Given the description of an element on the screen output the (x, y) to click on. 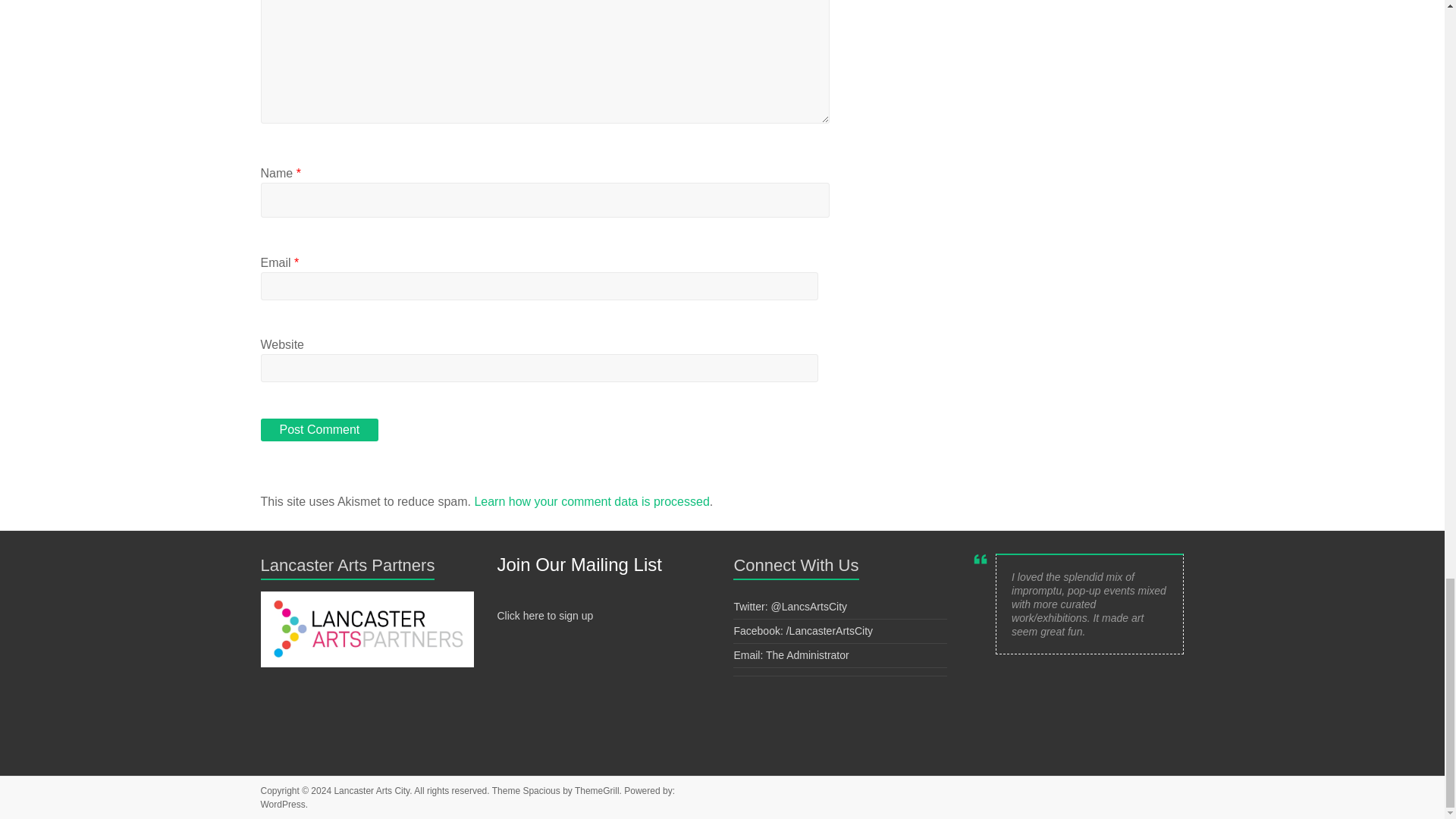
Post Comment (319, 429)
